Given the description of an element on the screen output the (x, y) to click on. 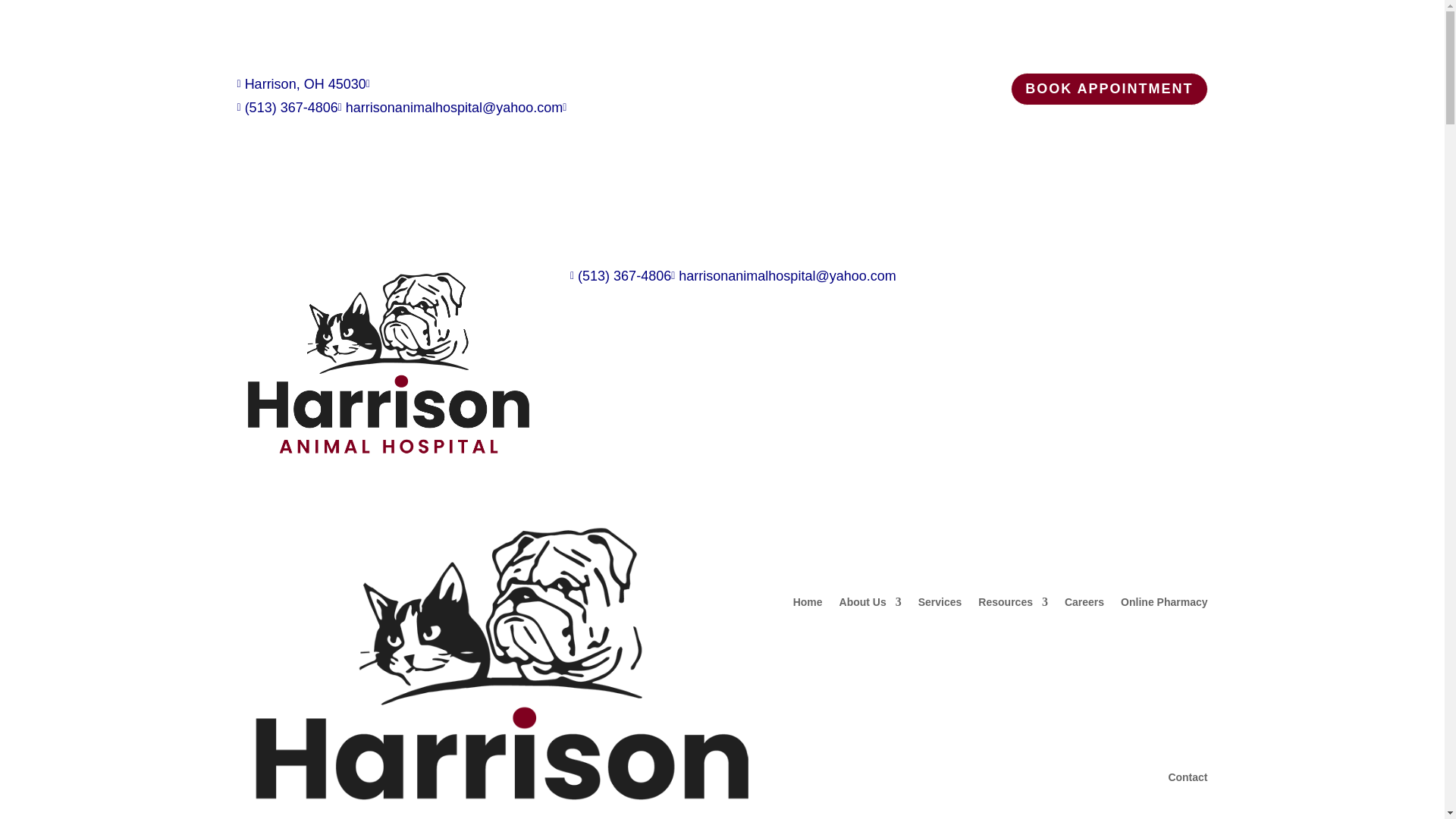
Online Pharmacy (1164, 601)
BOOK APPOINTMENT (1108, 88)
Resources (1013, 601)
About Us (870, 601)
Harrison-Animal-Hospital-logo (387, 365)
